Given the description of an element on the screen output the (x, y) to click on. 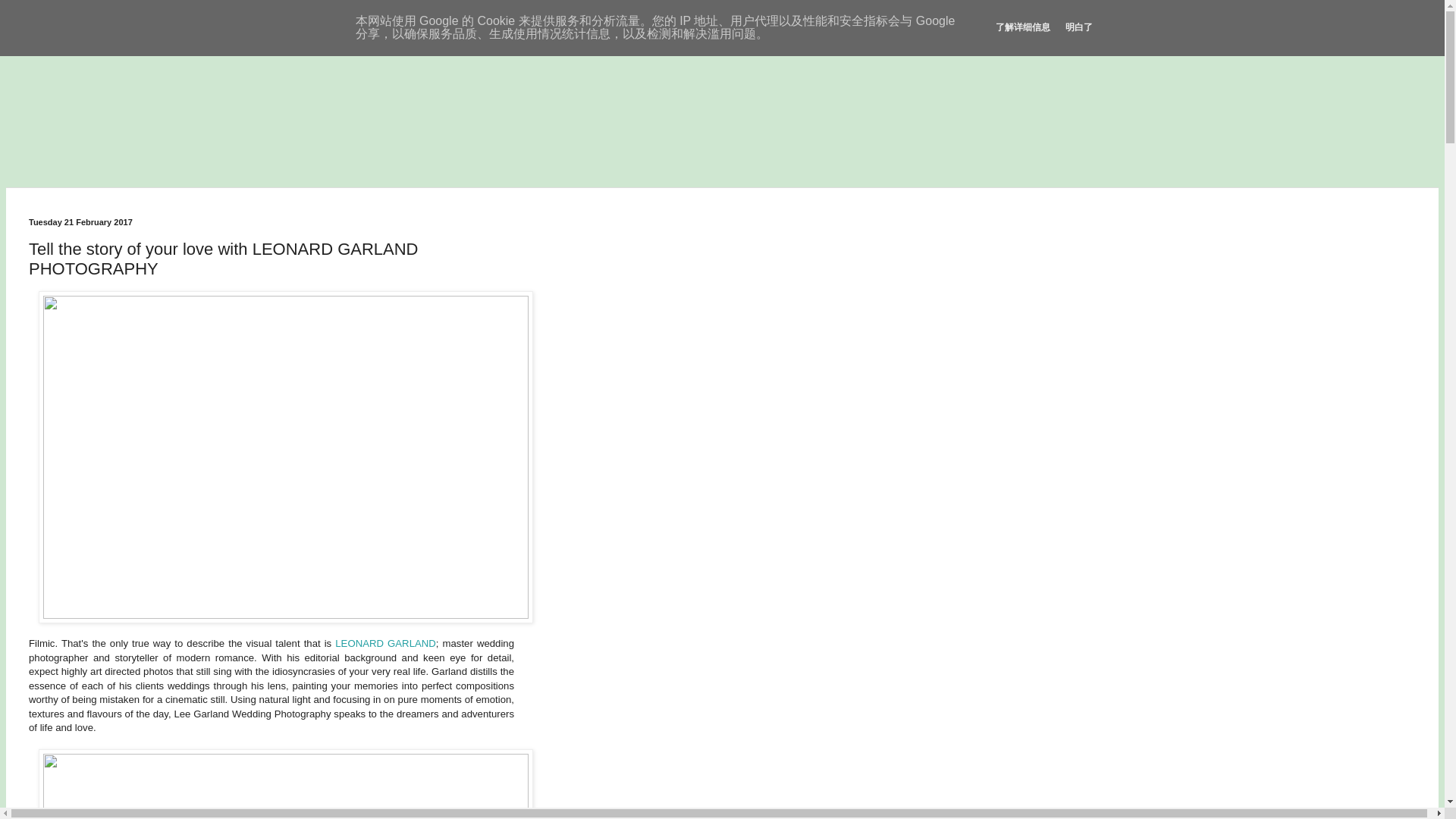
LEONARD GARLAND (384, 643)
